Given the description of an element on the screen output the (x, y) to click on. 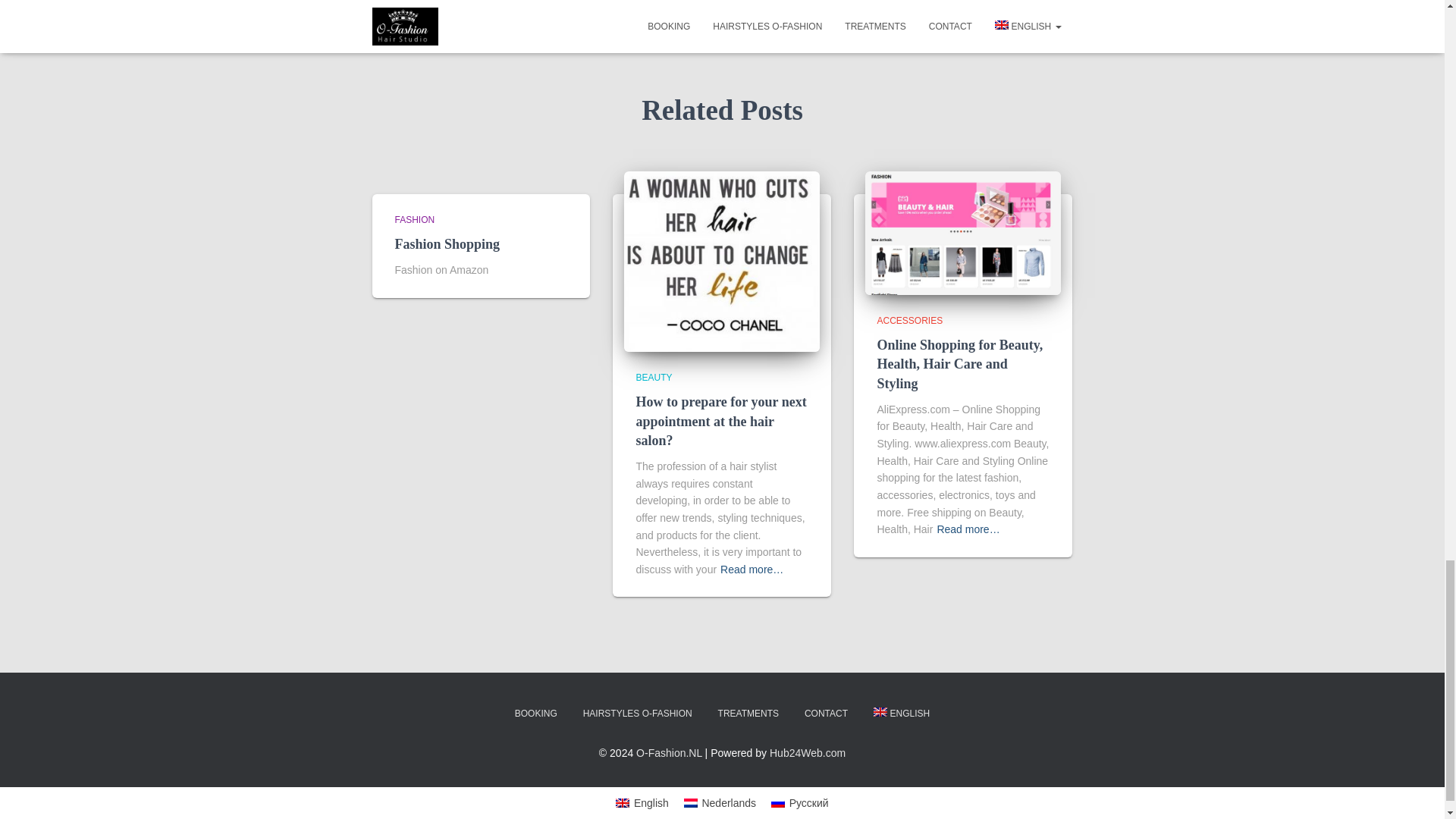
Hub24Web.com (807, 752)
Online Shopping for Beauty, Health, Hair Care and Styling (959, 363)
How to prepare for your next appointment at the hair salon? (720, 420)
How to prepare for your next appointment at the hair salon? (721, 260)
BOOKING (536, 713)
FASHION (413, 219)
Fashion Shopping (446, 243)
O-Fashion.NL (668, 752)
ENGLISH (900, 713)
ACCESSORIES (909, 320)
